Given the description of an element on the screen output the (x, y) to click on. 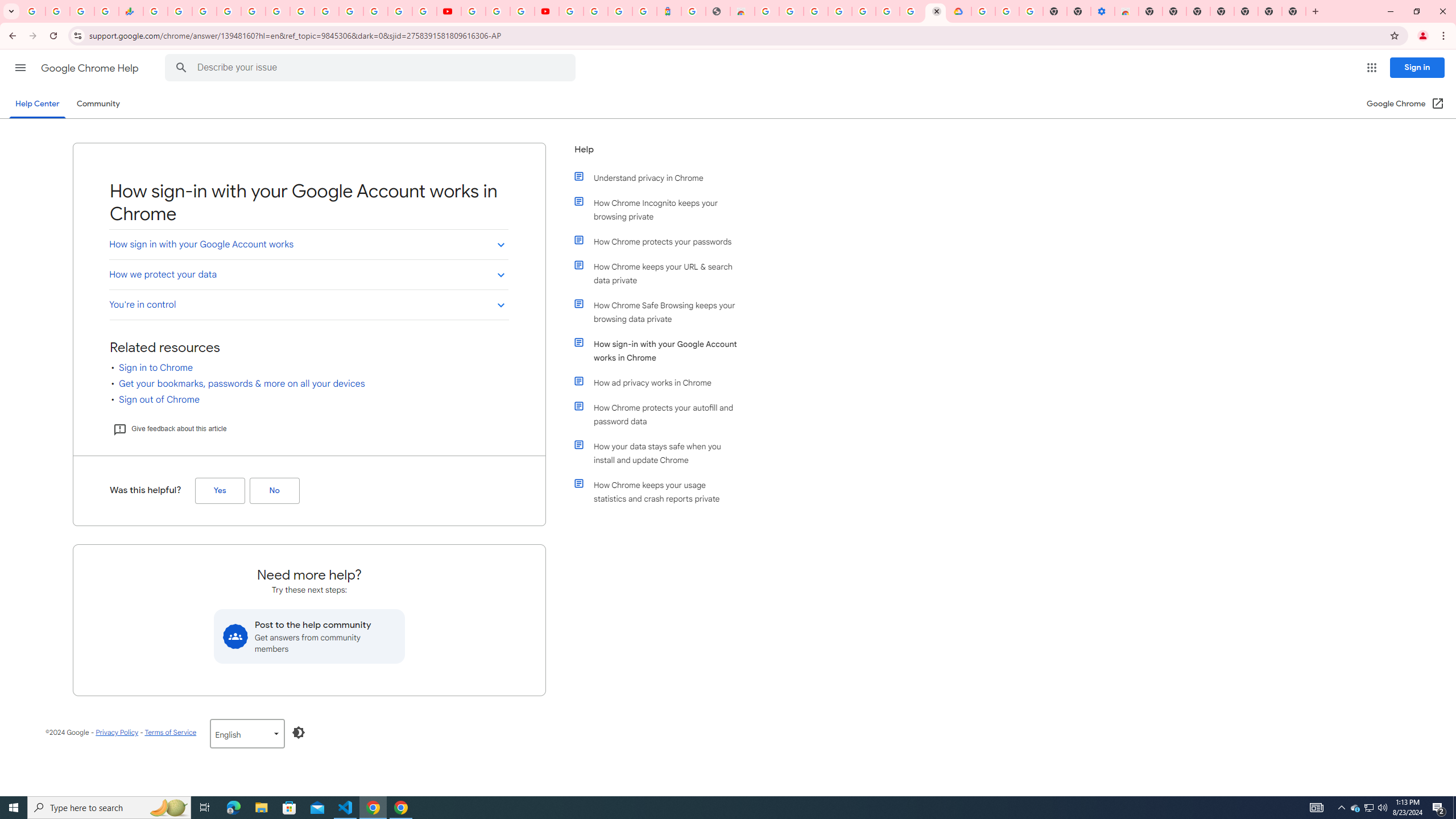
Google Account Help (863, 11)
Help Center (36, 103)
How sign in with your Google Account works (308, 244)
You're in control (308, 304)
